Given the description of an element on the screen output the (x, y) to click on. 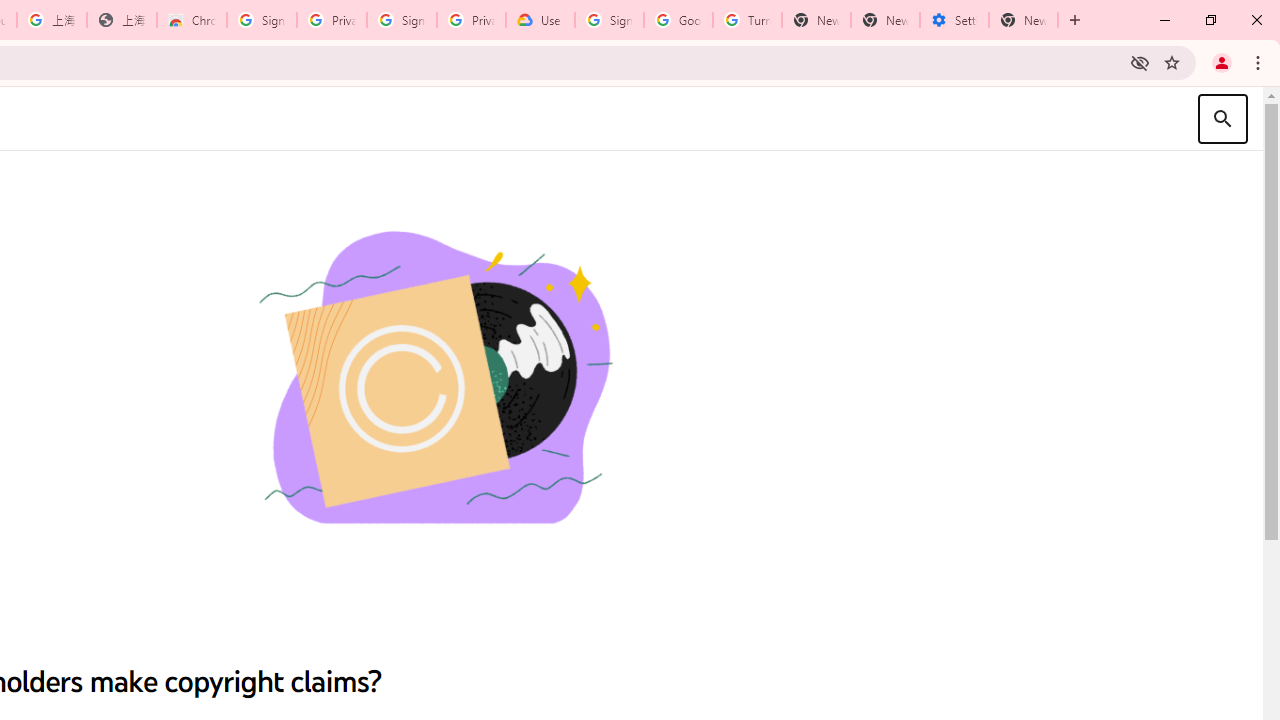
Copyright (433, 380)
Sign in - Google Accounts (261, 20)
Sign in - Google Accounts (401, 20)
